Given the description of an element on the screen output the (x, y) to click on. 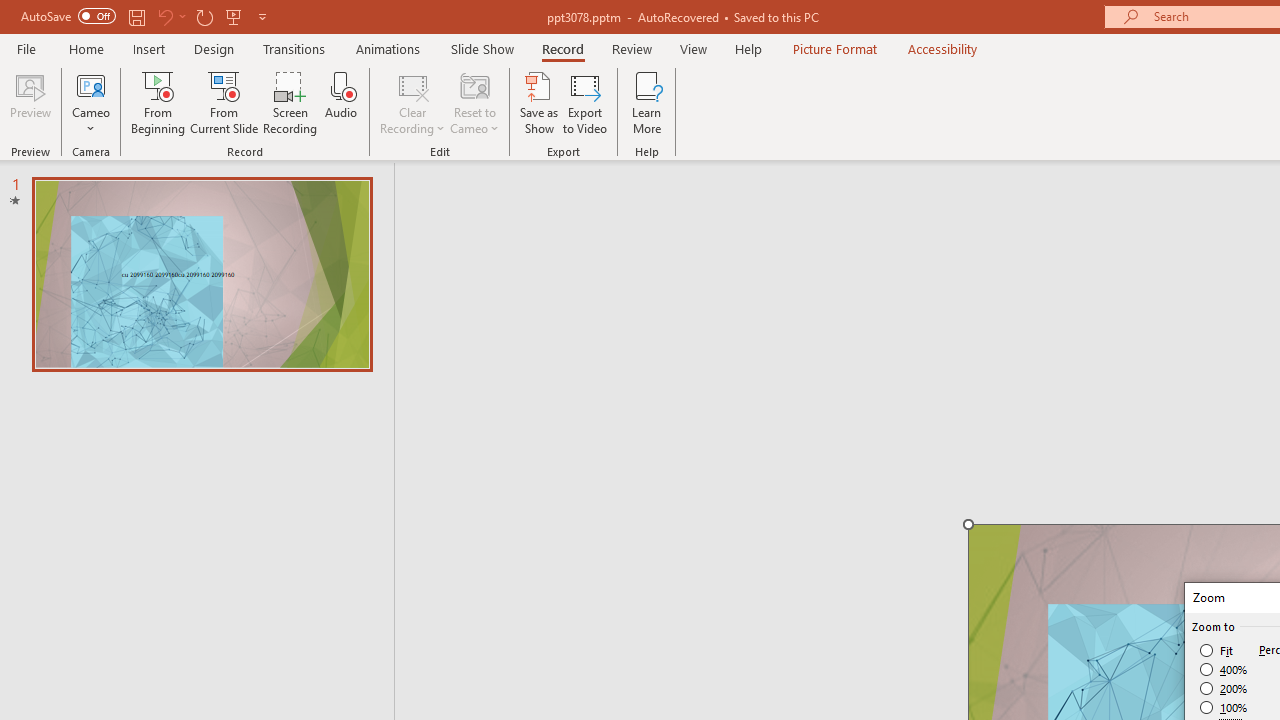
Reset to Cameo (474, 102)
400% (1224, 669)
Picture Format (834, 48)
Learn More (646, 102)
200% (1224, 688)
Export to Video (585, 102)
From Current Slide... (224, 102)
Clear Recording (412, 102)
